Given the description of an element on the screen output the (x, y) to click on. 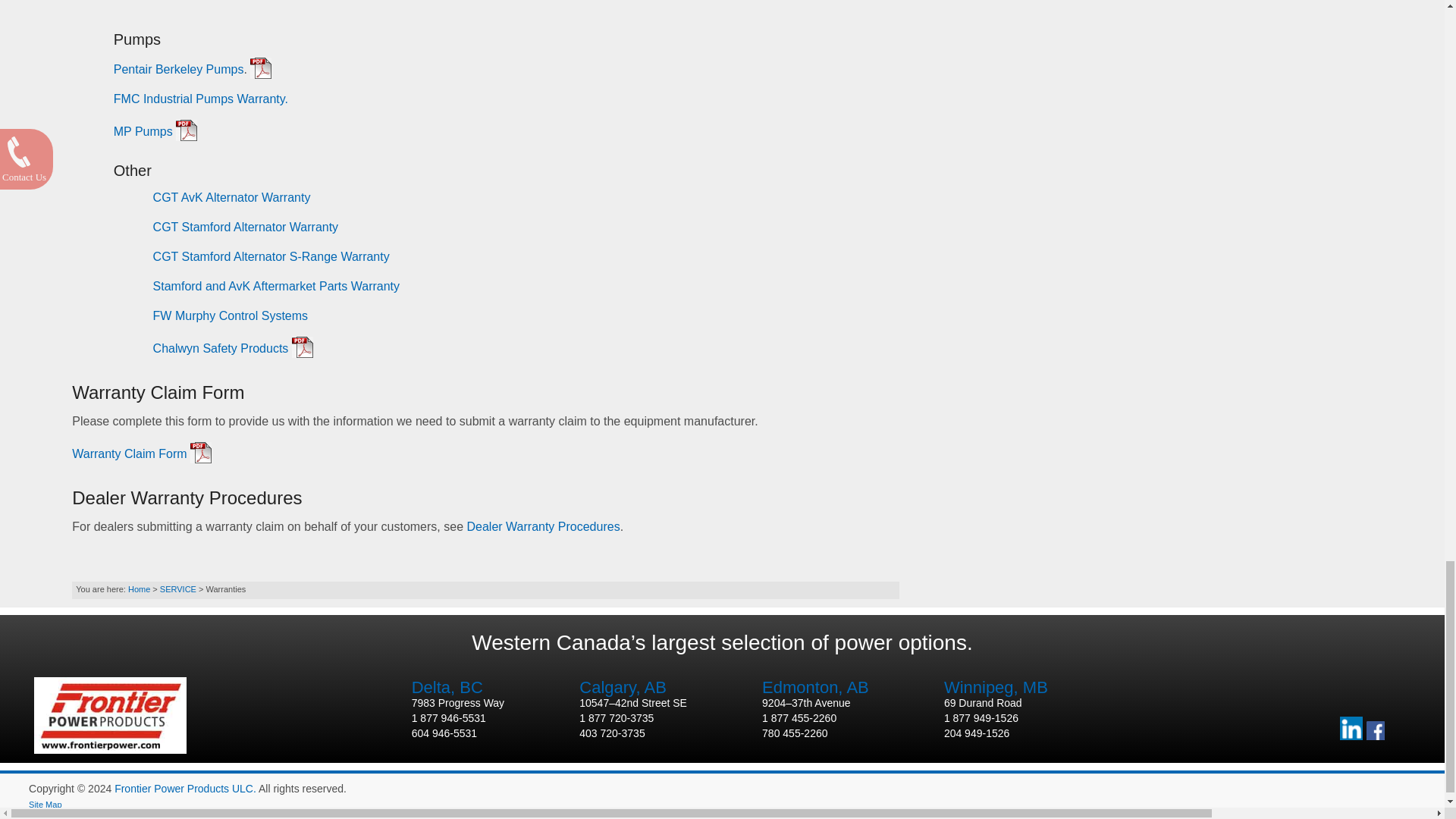
Go to Home. (138, 588)
